Given the description of an element on the screen output the (x, y) to click on. 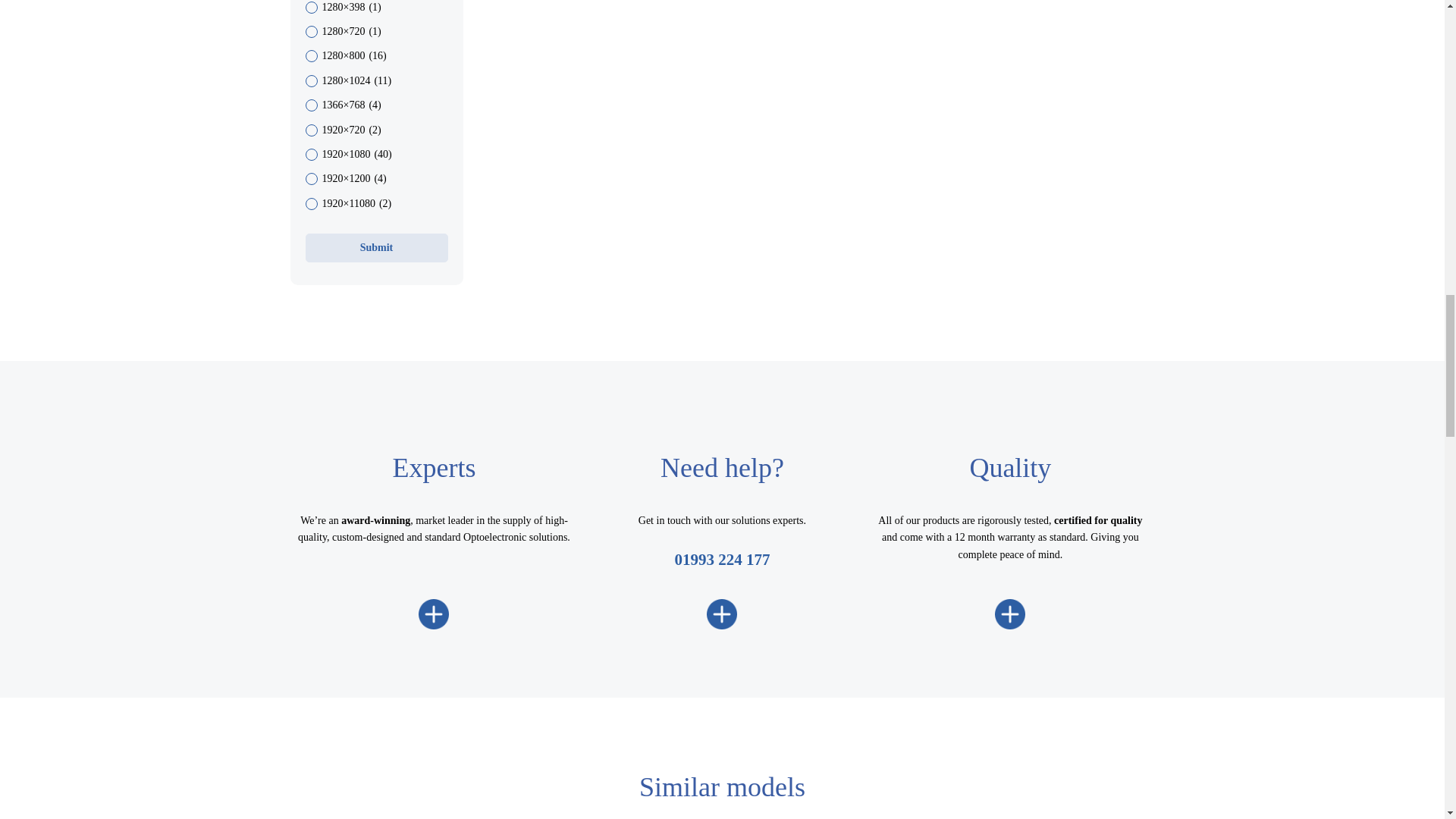
Submit (375, 247)
01993 224 177 (722, 559)
Submit (375, 247)
